Given the description of an element on the screen output the (x, y) to click on. 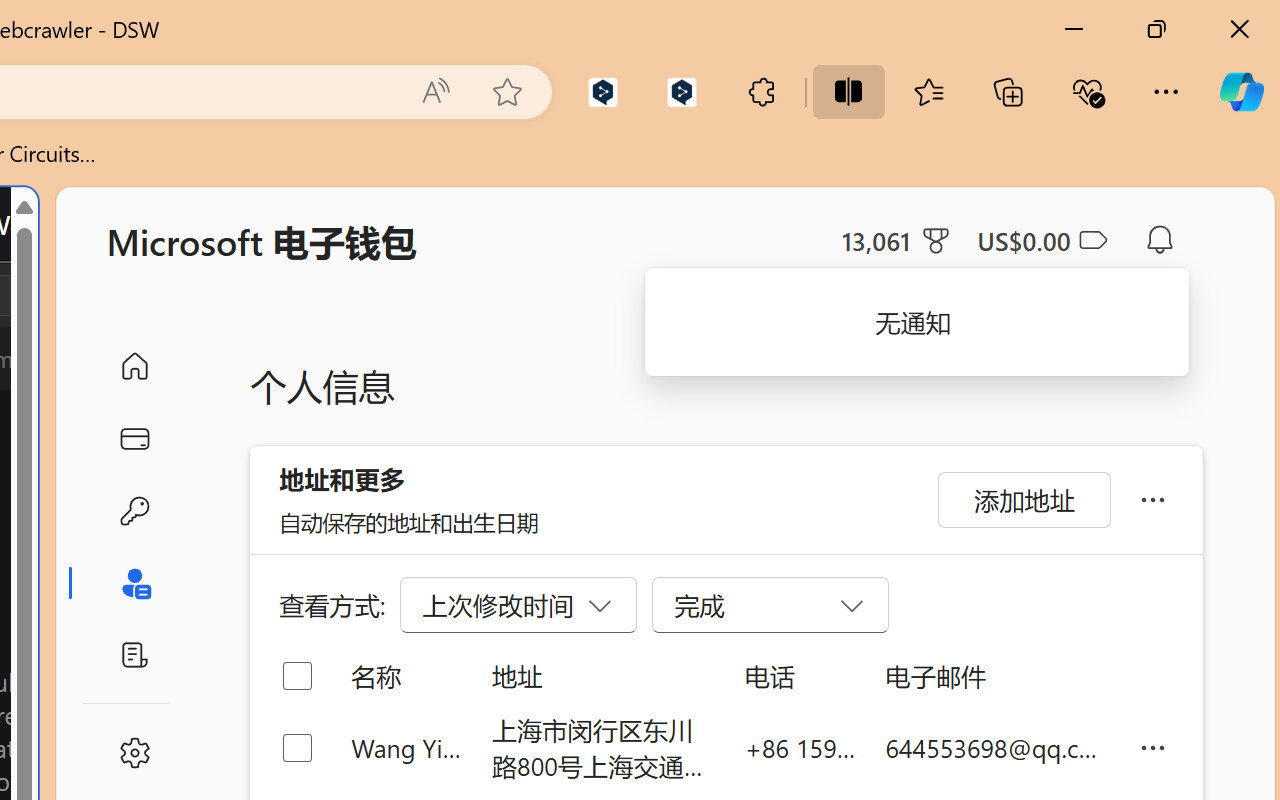
Microsoft Cashback - US$0.00 (1041, 240)
Wang Yian (406, 747)
644553698@qq.com (996, 747)
